Given the description of an element on the screen output the (x, y) to click on. 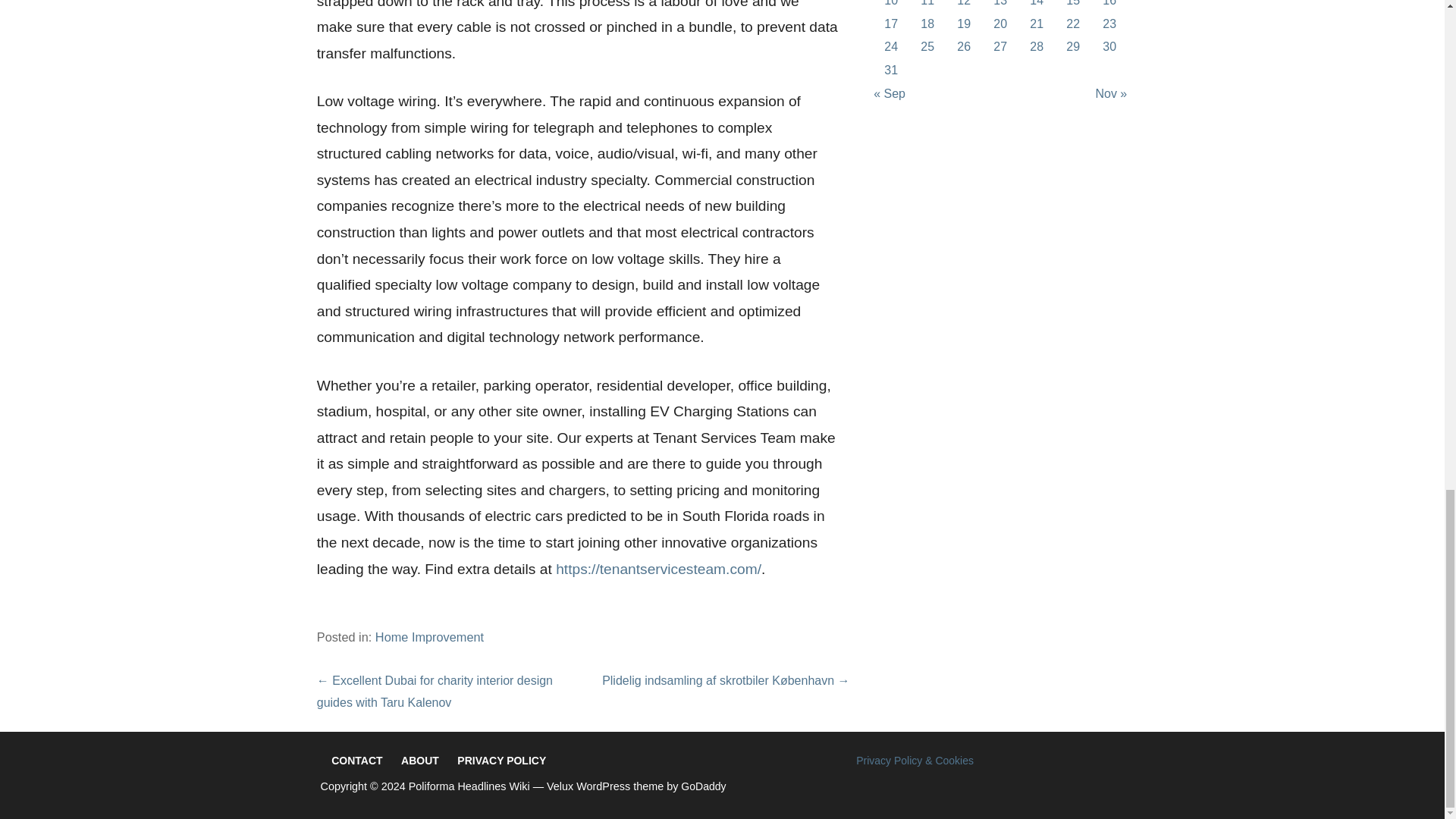
Home Improvement (429, 636)
10 (890, 3)
11 (927, 3)
